Given the description of an element on the screen output the (x, y) to click on. 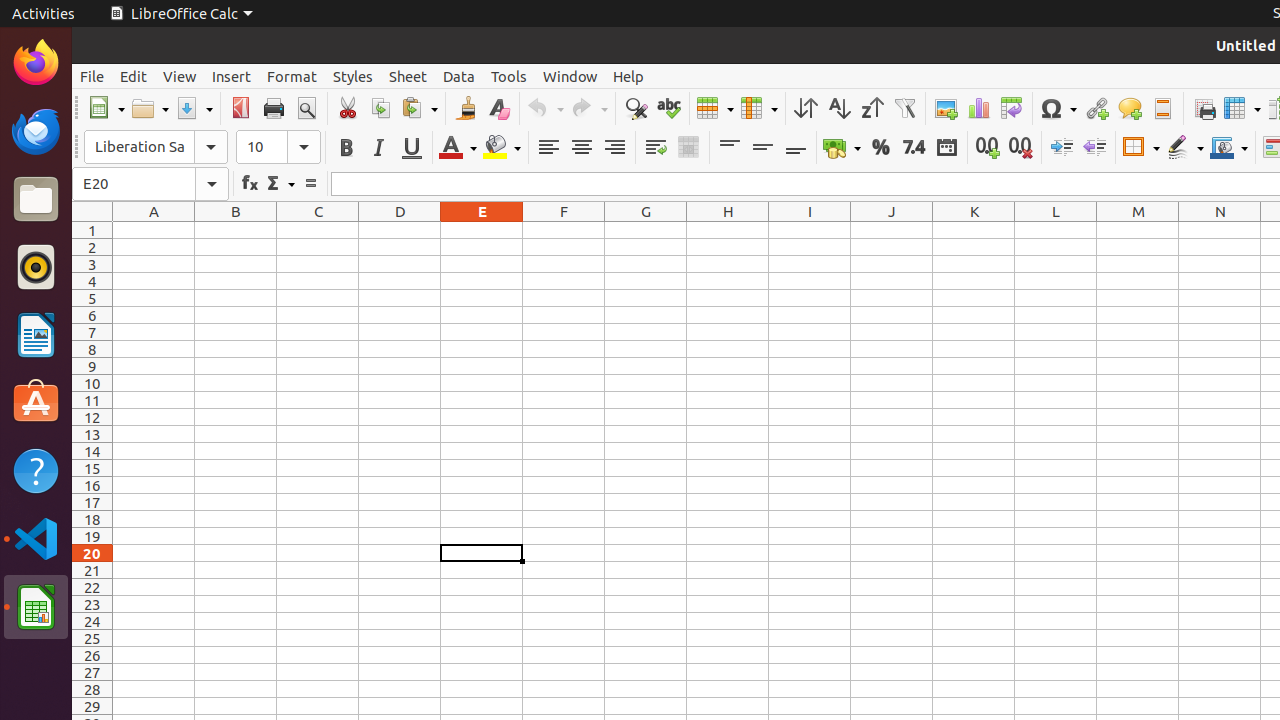
F1 Element type: table-cell (564, 230)
Underline Element type: push-button (411, 147)
Decrease Element type: push-button (1094, 147)
Background Color Element type: push-button (502, 147)
